Given the description of an element on the screen output the (x, y) to click on. 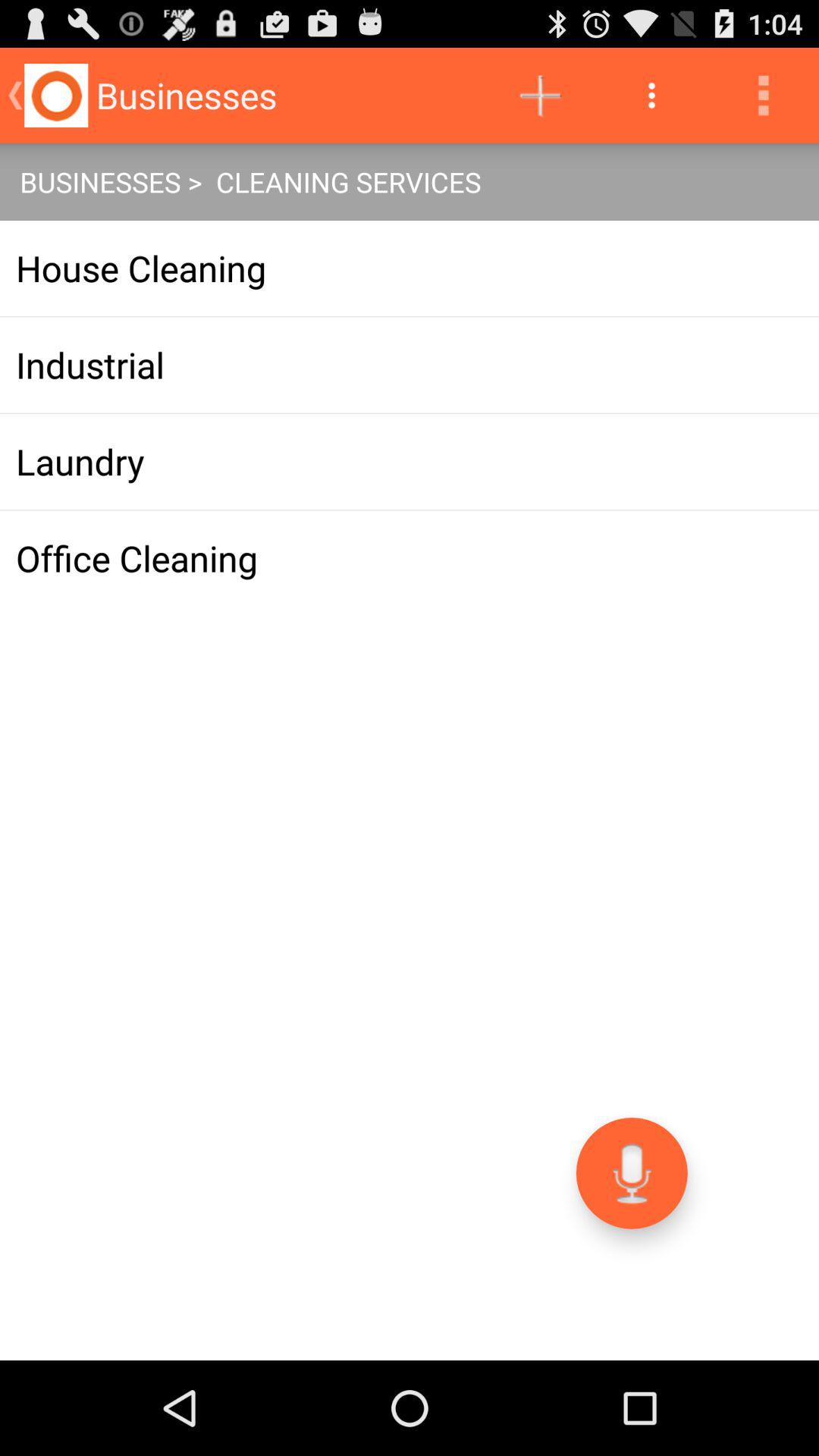
press icon above the laundry item (409, 364)
